Given the description of an element on the screen output the (x, y) to click on. 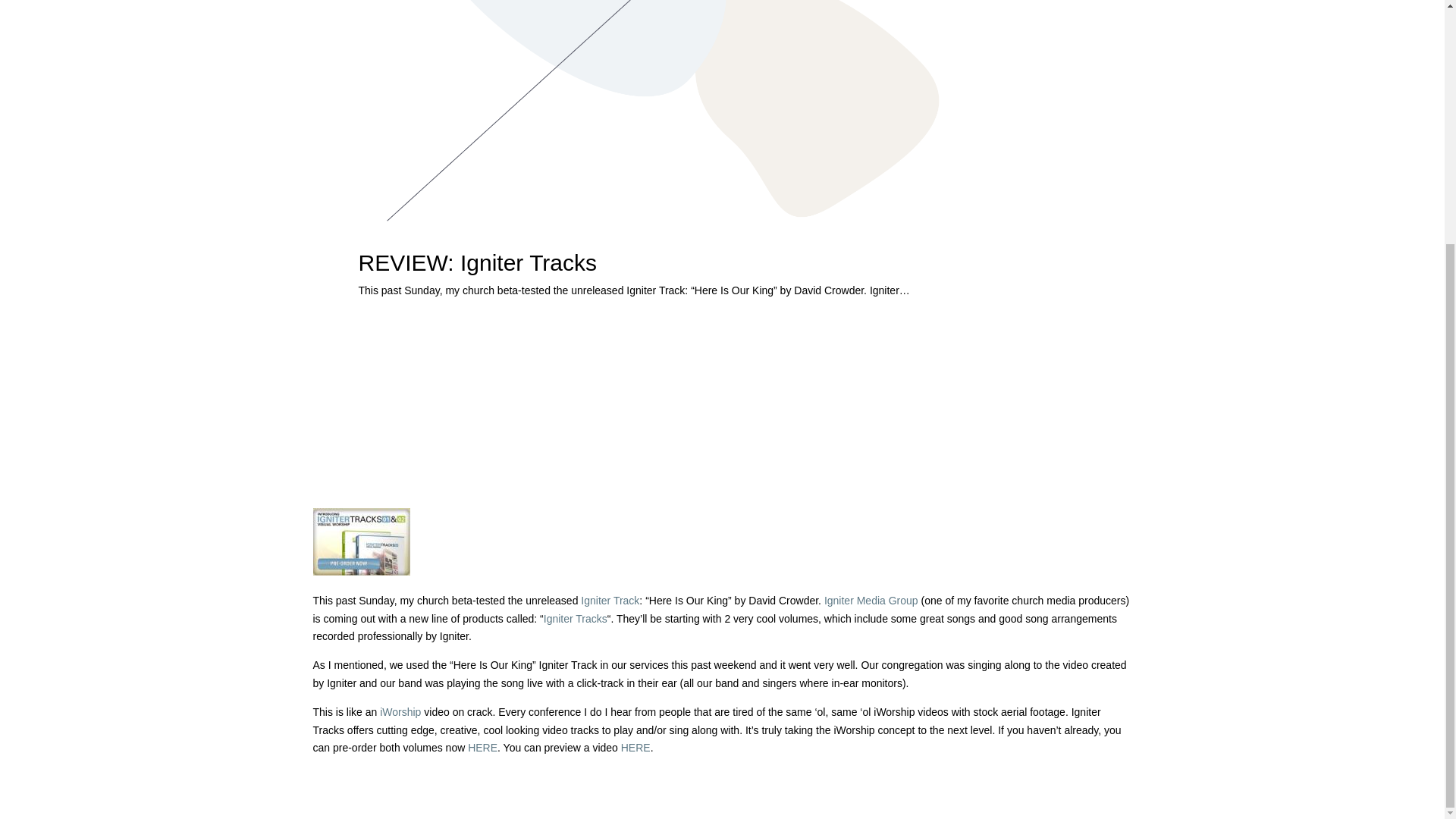
HERE (482, 747)
iWorship (400, 711)
Igniter Media Group (871, 600)
HERE (635, 747)
Igniter Tracks (575, 618)
Igniter Track (609, 600)
